Given the description of an element on the screen output the (x, y) to click on. 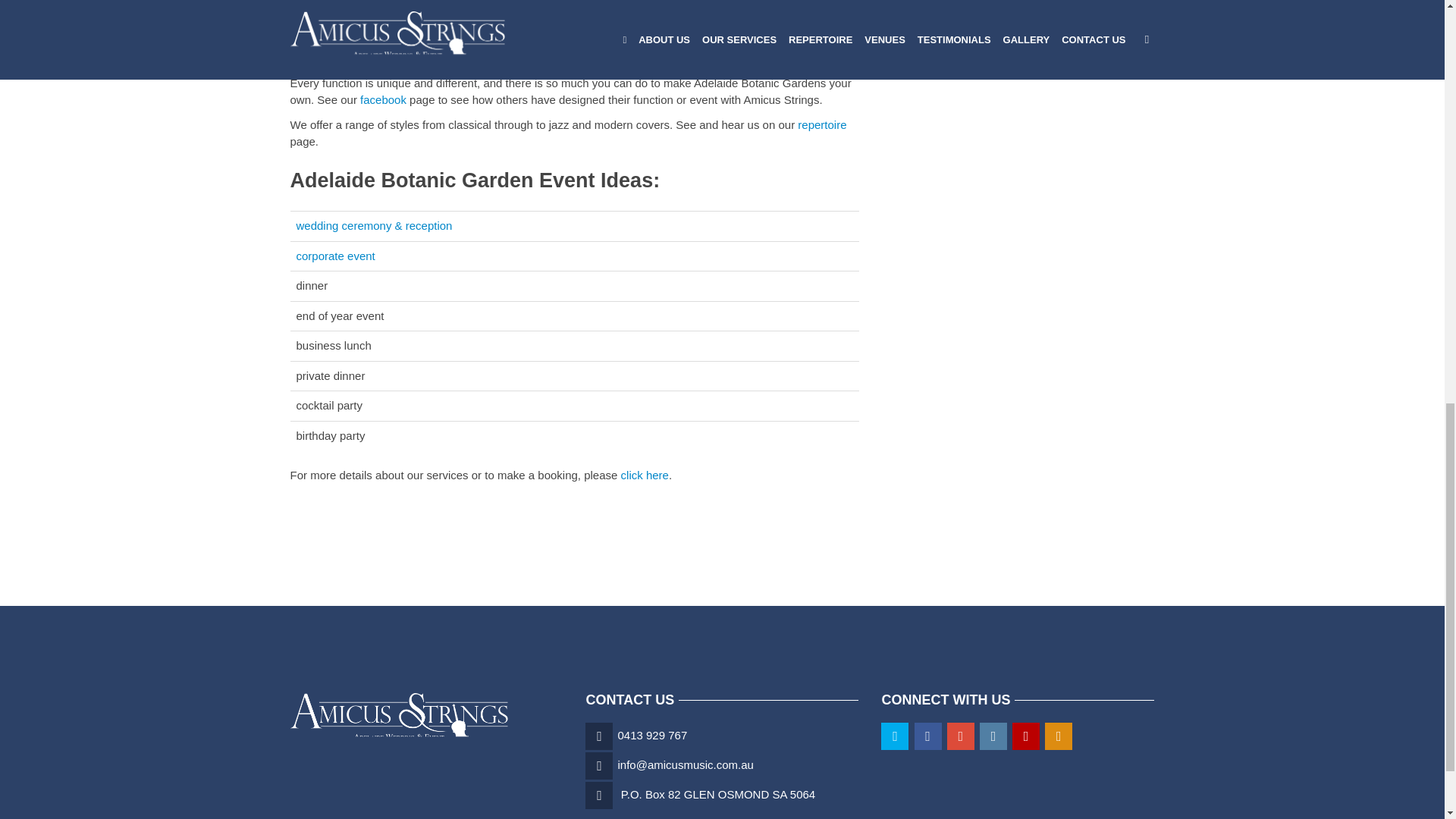
0413 929 767 (652, 735)
facebook (382, 99)
Repertoire (821, 124)
Facebook (382, 99)
P.O. Box 82 GLEN OSMOND SA 5064 (718, 793)
corporate event (334, 255)
repertoire (821, 124)
click here (644, 474)
